Given the description of an element on the screen output the (x, y) to click on. 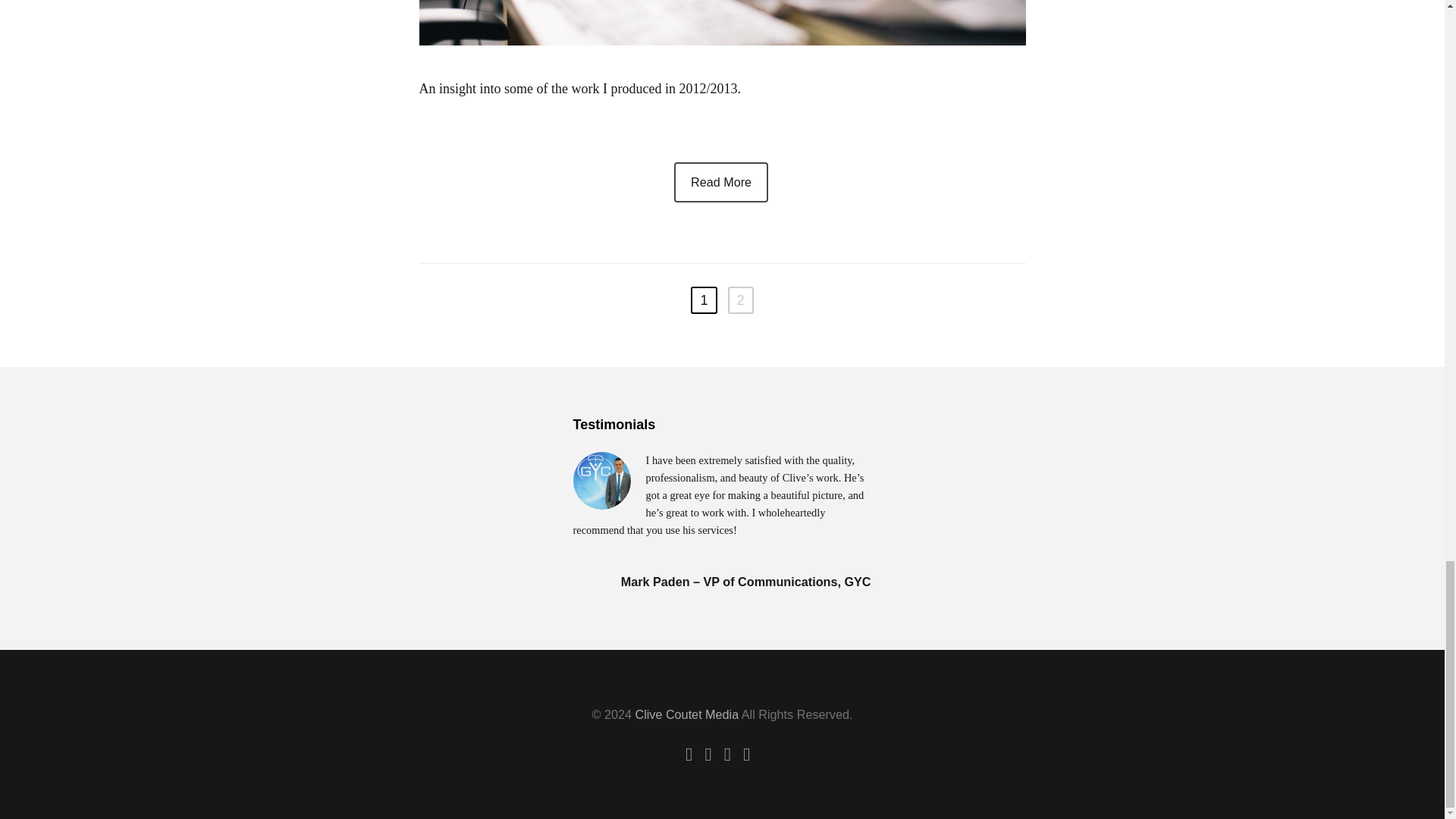
2 (741, 299)
Read More (721, 182)
Showreel 2013 (721, 182)
Showreel 2013 (722, 22)
Clive Coutet Media (686, 713)
